Given the description of an element on the screen output the (x, y) to click on. 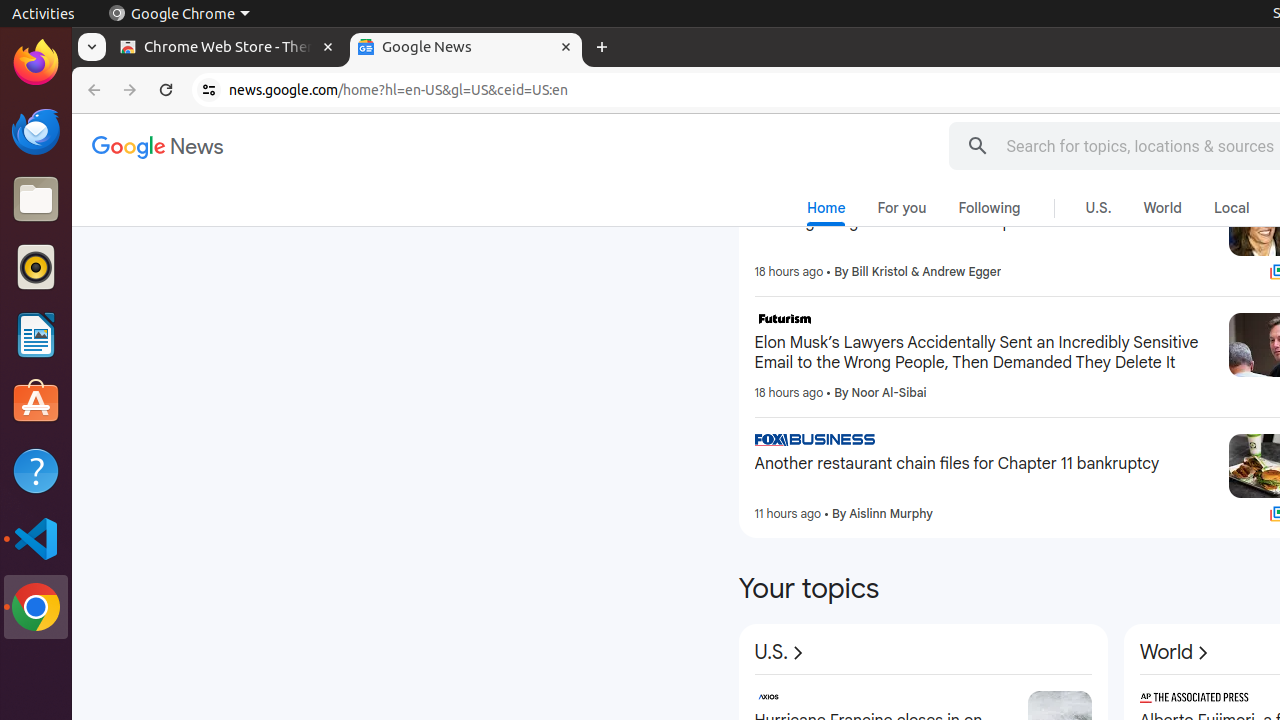
View site information Element type: push-button (209, 90)
Search Element type: push-button (977, 146)
More - Elon Musk’s Lawyers Accidentally Sent an Incredibly Sensitive Email to the Wrong People, Then Demanded They Delete It Element type: push-button (1206, 322)
Google News Element type: link (158, 148)
Google News - Memory usage - 40.9 MB Element type: page-tab (466, 47)
